Given the description of an element on the screen output the (x, y) to click on. 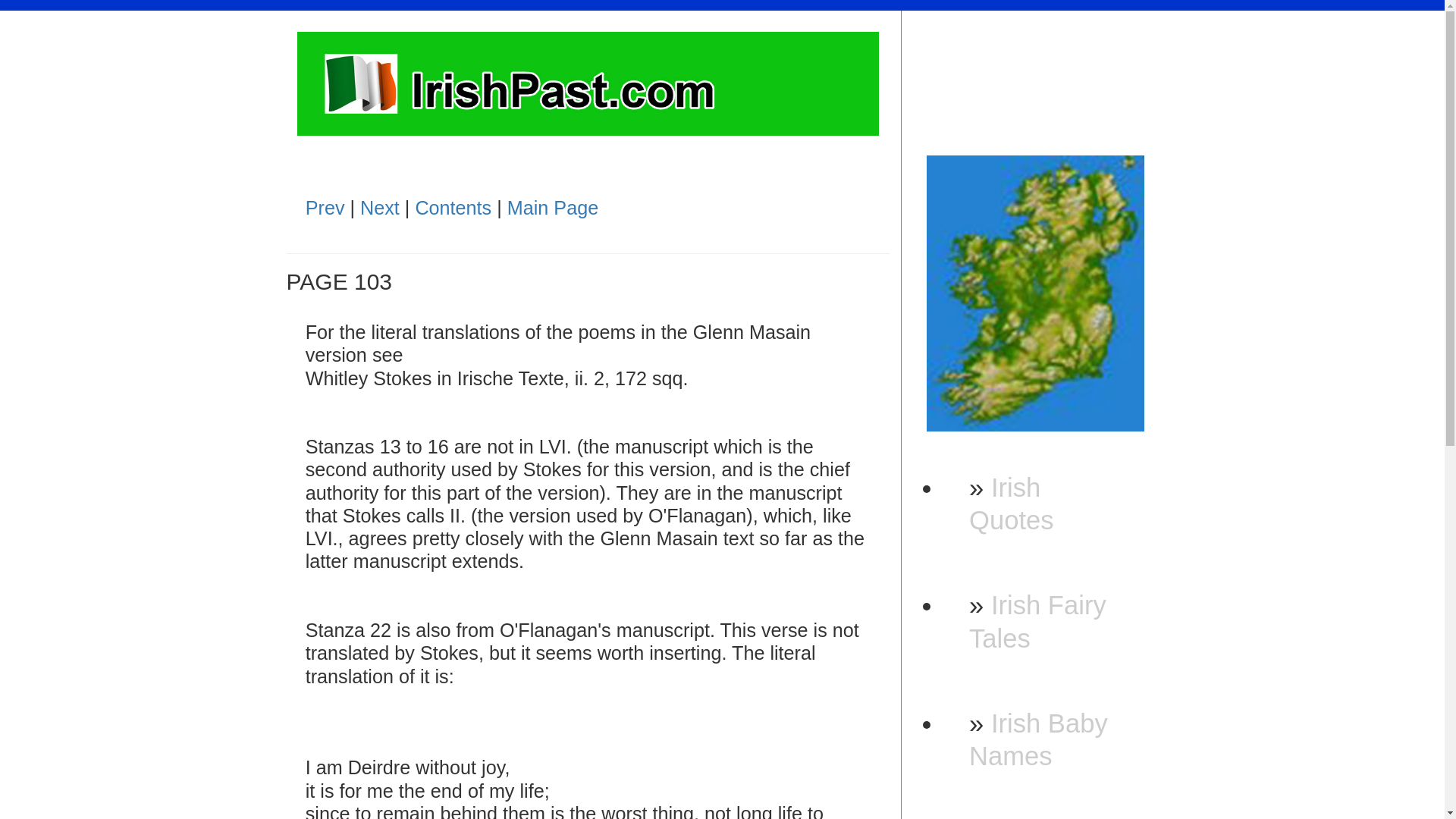
Irish Fairy Tales (1037, 620)
Prev (325, 207)
Contents (453, 207)
Irish Baby Names (1038, 739)
Main Page (552, 207)
Next (378, 207)
Irish Quotes (1010, 503)
